Given the description of an element on the screen output the (x, y) to click on. 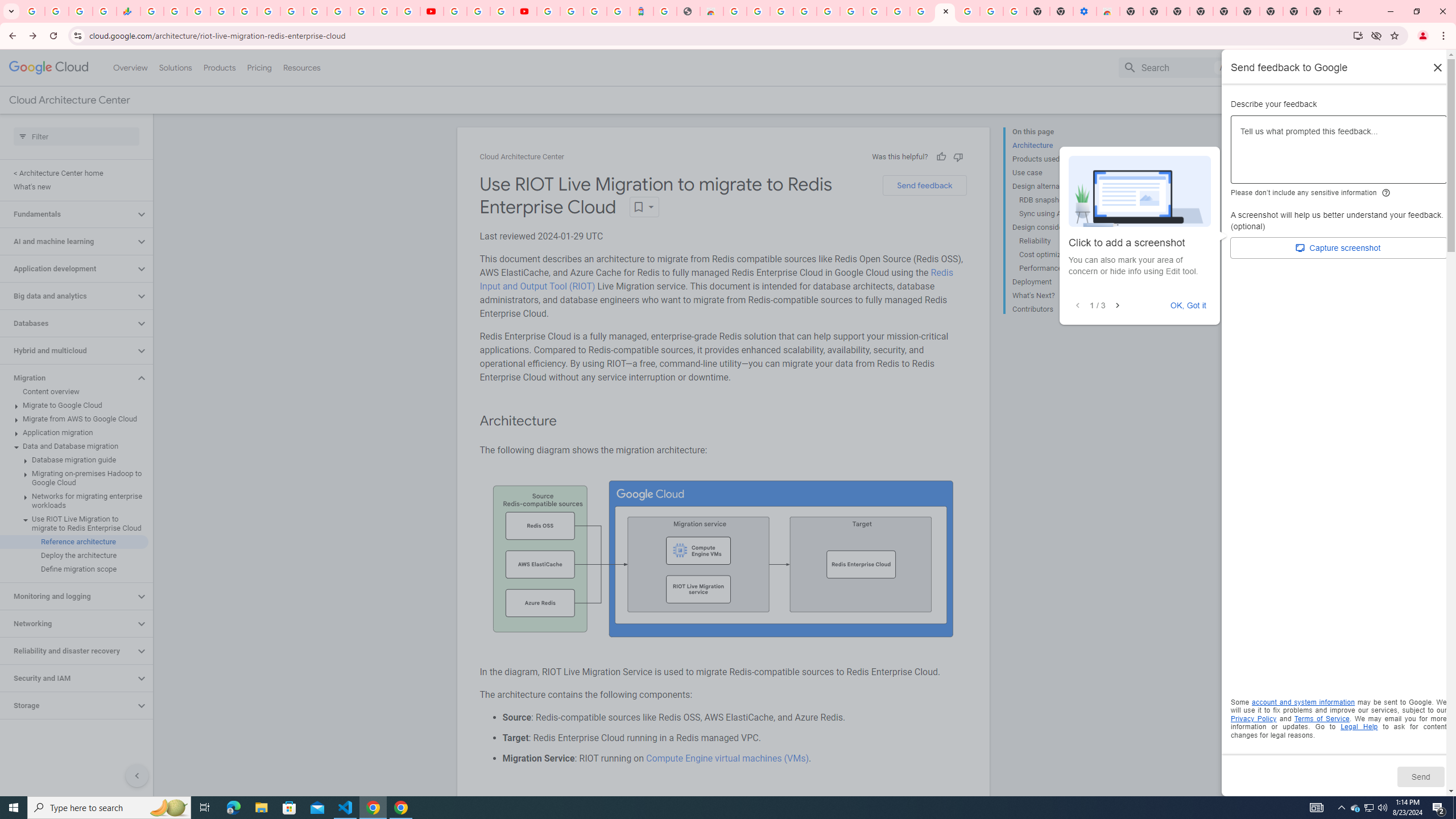
Google Cloud (48, 67)
Google Account Help (478, 11)
Content overview (74, 391)
Contact Us (1324, 100)
Big data and analytics (67, 296)
Deploy the architecture (74, 555)
Migrate to Google Cloud (74, 404)
Hide side navigation (136, 775)
Address and search bar (717, 35)
Contributors (1058, 307)
